Given the description of an element on the screen output the (x, y) to click on. 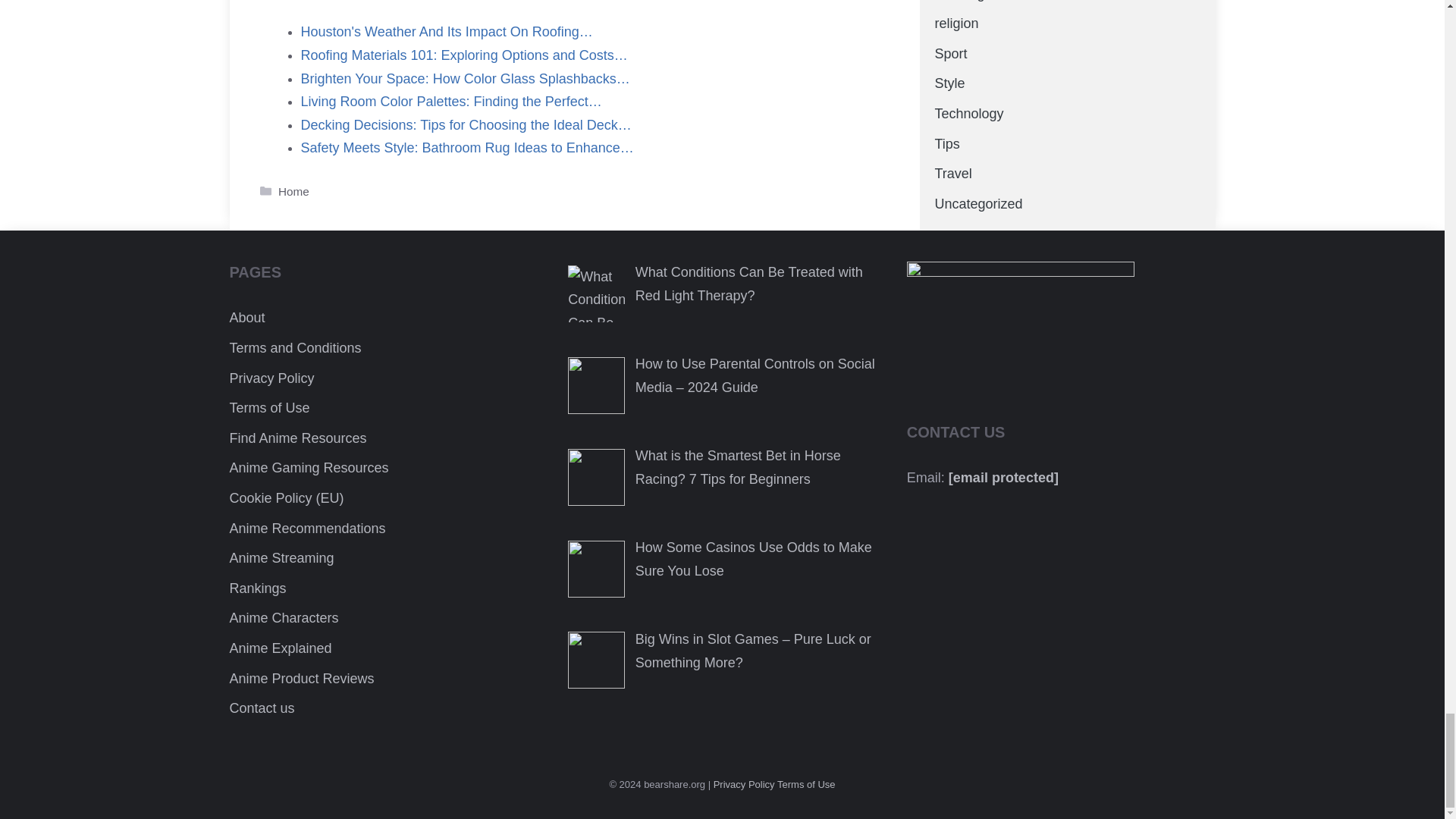
Home (293, 191)
